Given the description of an element on the screen output the (x, y) to click on. 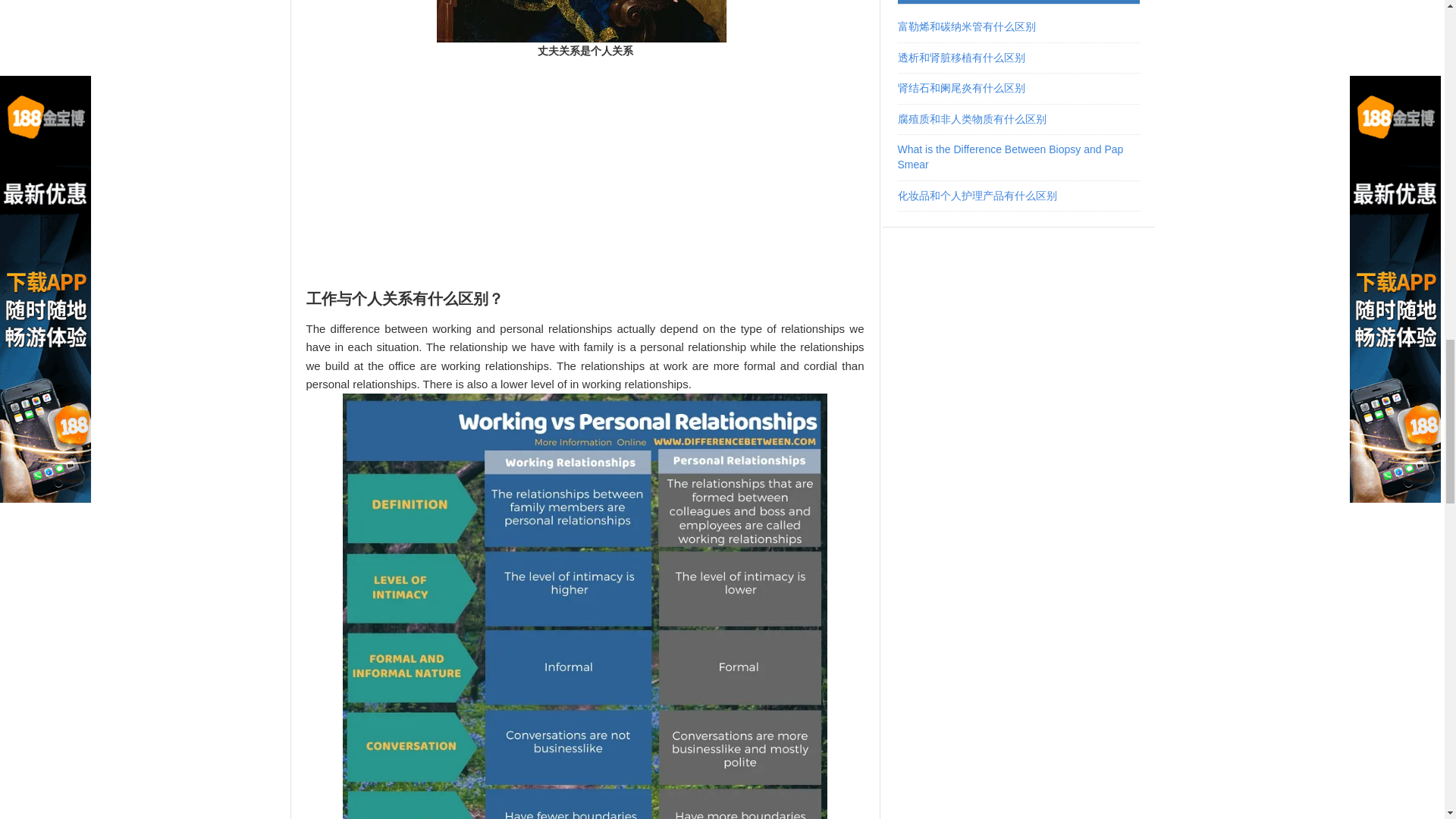
Difference Between Working and Personal Relationships 2 (581, 21)
